Given the description of an element on the screen output the (x, y) to click on. 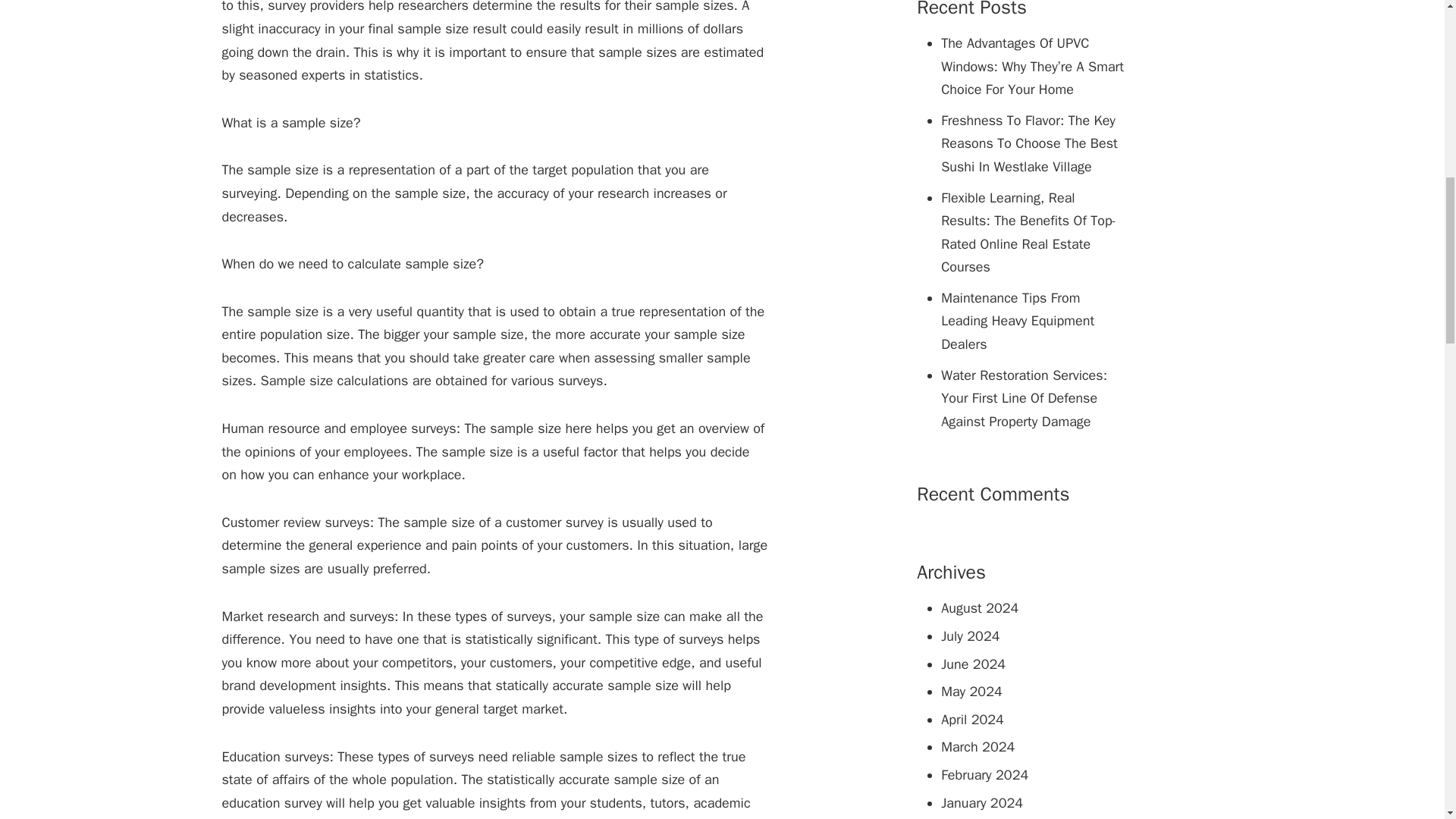
August 2024 (978, 607)
Maintenance Tips From Leading Heavy Equipment Dealers (1032, 321)
March 2024 (977, 746)
June 2024 (973, 664)
January 2024 (981, 802)
July 2024 (969, 636)
April 2024 (972, 719)
May 2024 (971, 691)
